Given the description of an element on the screen output the (x, y) to click on. 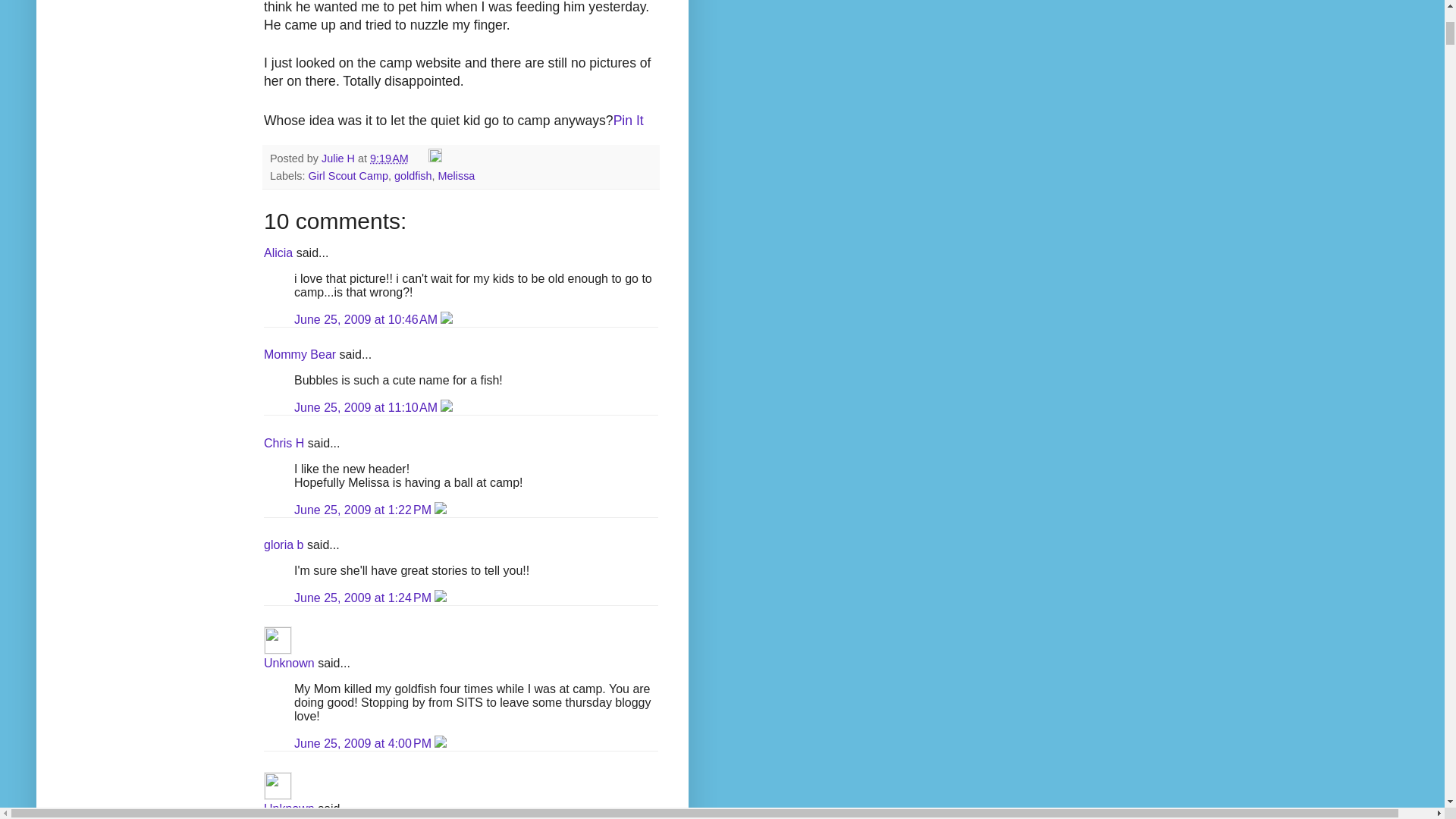
Unknown (288, 662)
comment permalink (363, 597)
comment permalink (367, 407)
Chris H (283, 442)
Pin It (627, 119)
Melissa (457, 175)
goldfish (413, 175)
Alicia (277, 252)
Girl Scout Camp (347, 175)
Julie H (339, 158)
comment permalink (363, 509)
Mommy Bear (299, 354)
gloria b (282, 544)
